Given the description of an element on the screen output the (x, y) to click on. 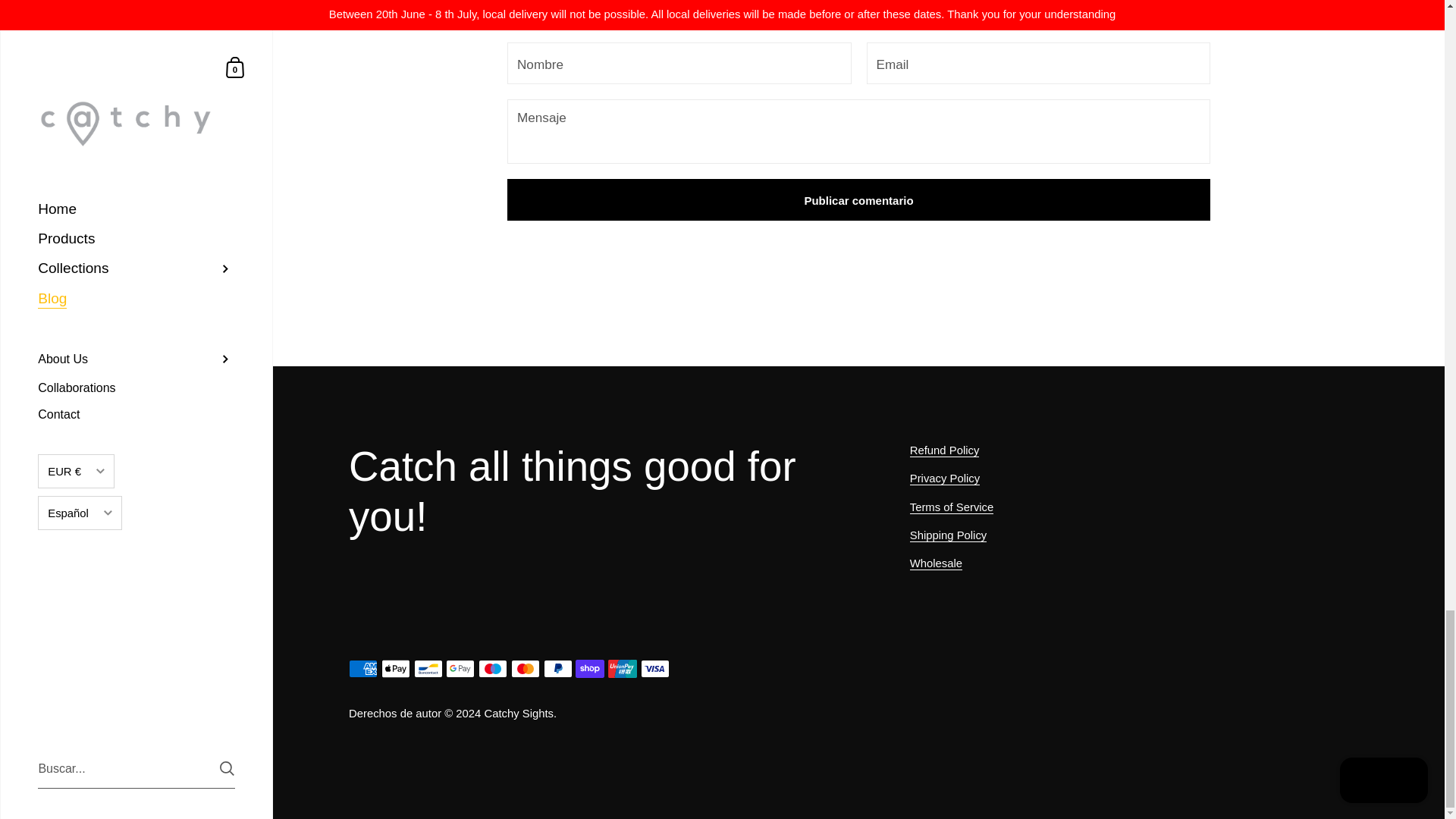
Union Pay (622, 669)
Google Pay (459, 669)
PayPal (557, 669)
Bancontact (427, 669)
Mastercard (525, 669)
Publicar comentario (857, 199)
Visa (654, 669)
Shop Pay (589, 669)
Apple Pay (395, 669)
Maestro (492, 669)
American Express (363, 669)
